Given the description of an element on the screen output the (x, y) to click on. 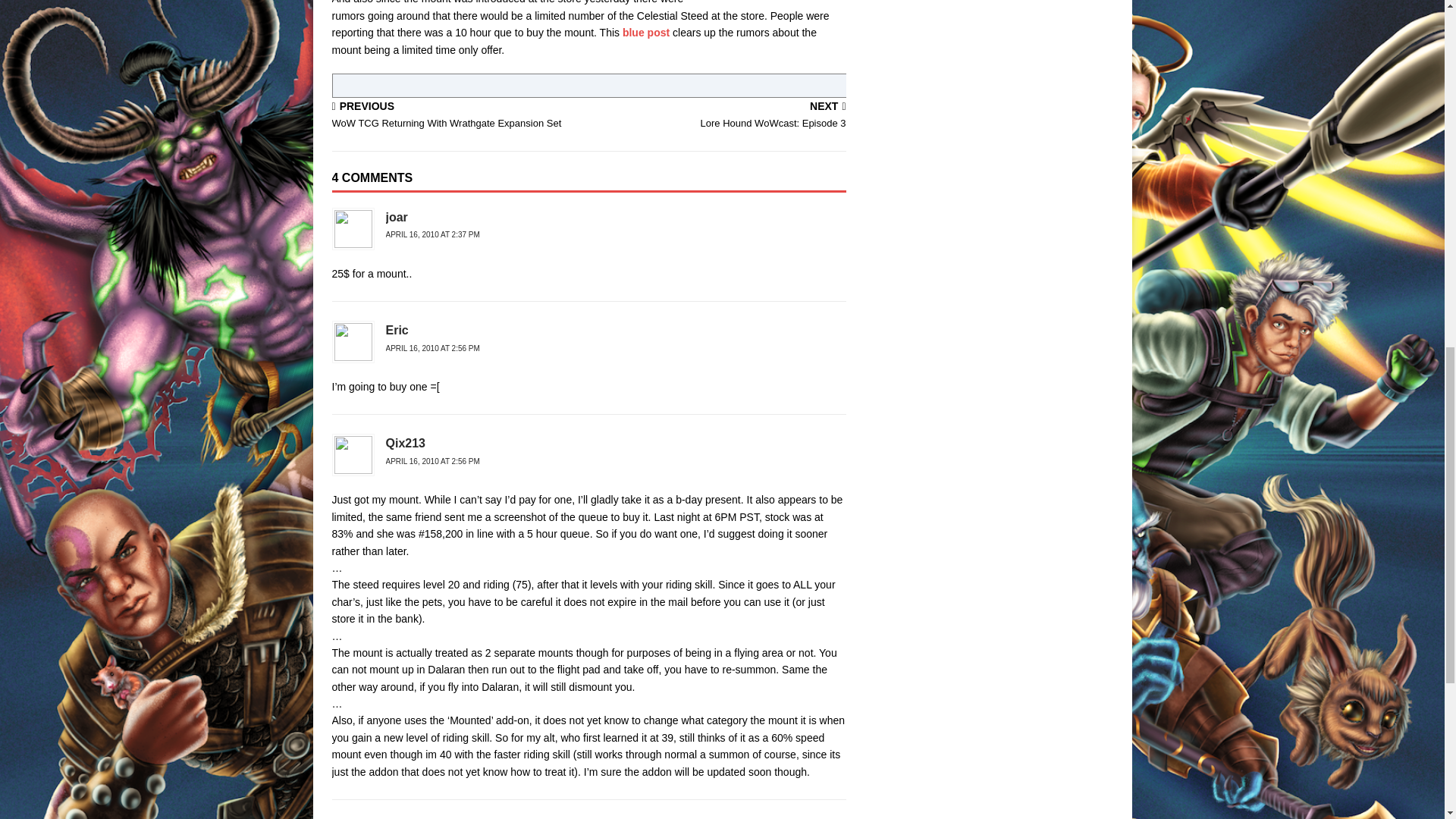
blue post (646, 32)
APRIL 16, 2010 AT 2:37 PM (432, 234)
APRIL 16, 2010 AT 2:56 PM (457, 115)
APRIL 16, 2010 AT 2:56 PM (720, 115)
